Given the description of an element on the screen output the (x, y) to click on. 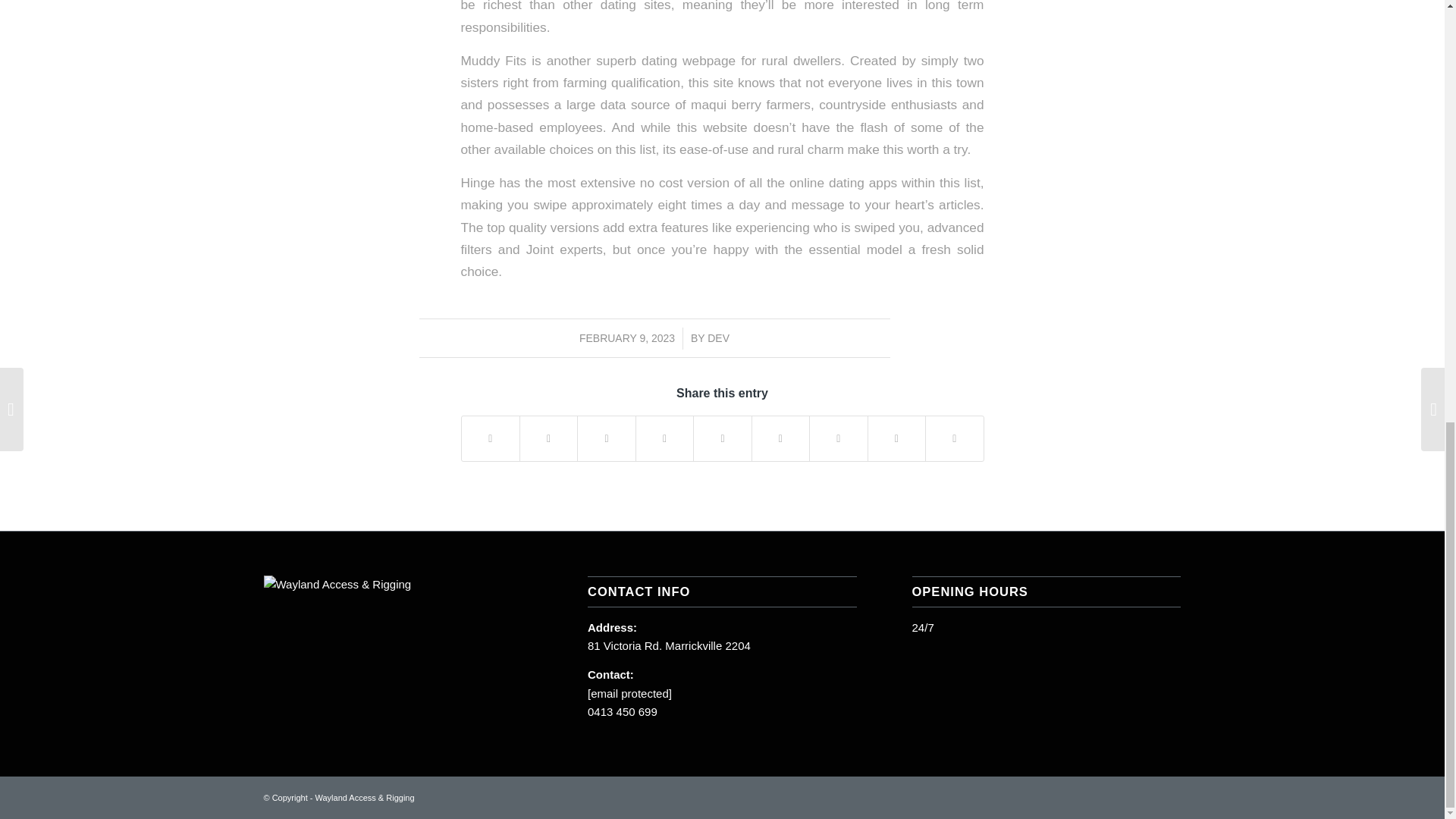
Posts by dev (718, 337)
0413 450 699 (623, 711)
DEV (718, 337)
